Given the description of an element on the screen output the (x, y) to click on. 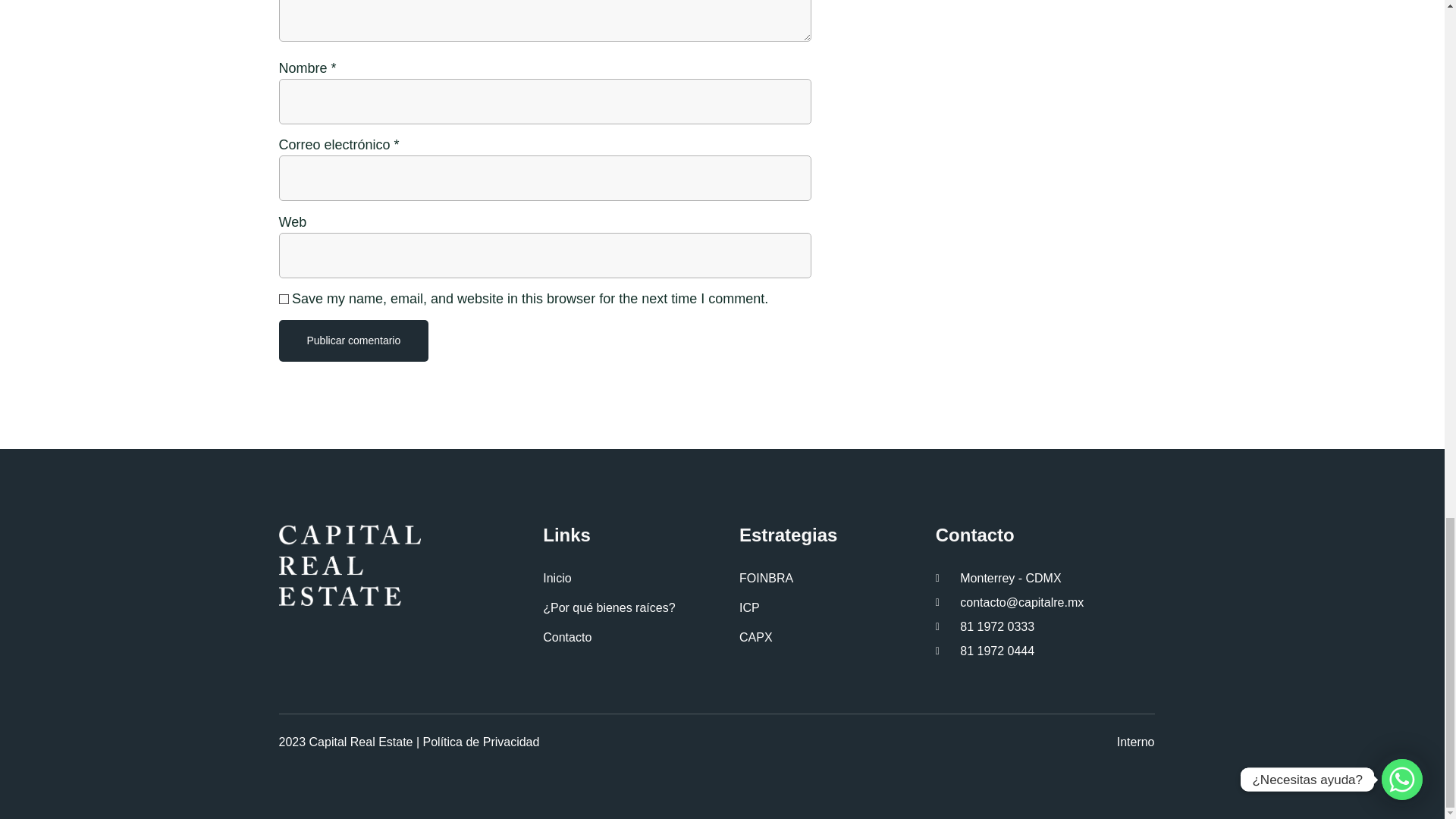
FOINBRA (837, 578)
Publicar comentario (354, 340)
Inicio (629, 578)
CAPX (837, 637)
ICP (837, 607)
Contacto (629, 637)
Publicar comentario (309, 340)
81 1972 0333 (1045, 627)
81 1972 0444 (1045, 651)
